Given the description of an element on the screen output the (x, y) to click on. 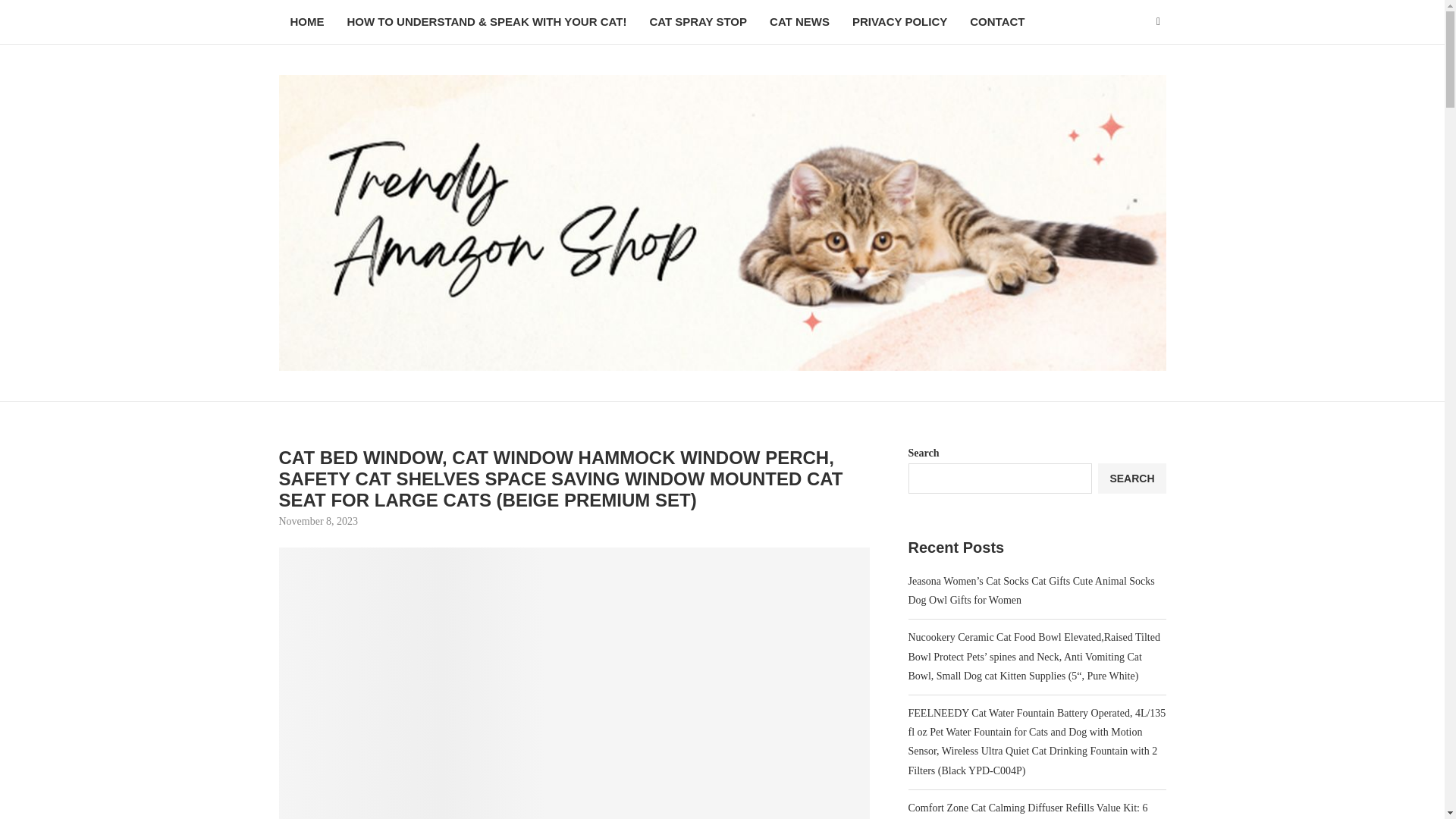
PRIVACY POLICY (899, 22)
CAT SPRAY STOP (697, 22)
HOME (307, 22)
CONTACT (996, 22)
CAT NEWS (799, 22)
